Given the description of an element on the screen output the (x, y) to click on. 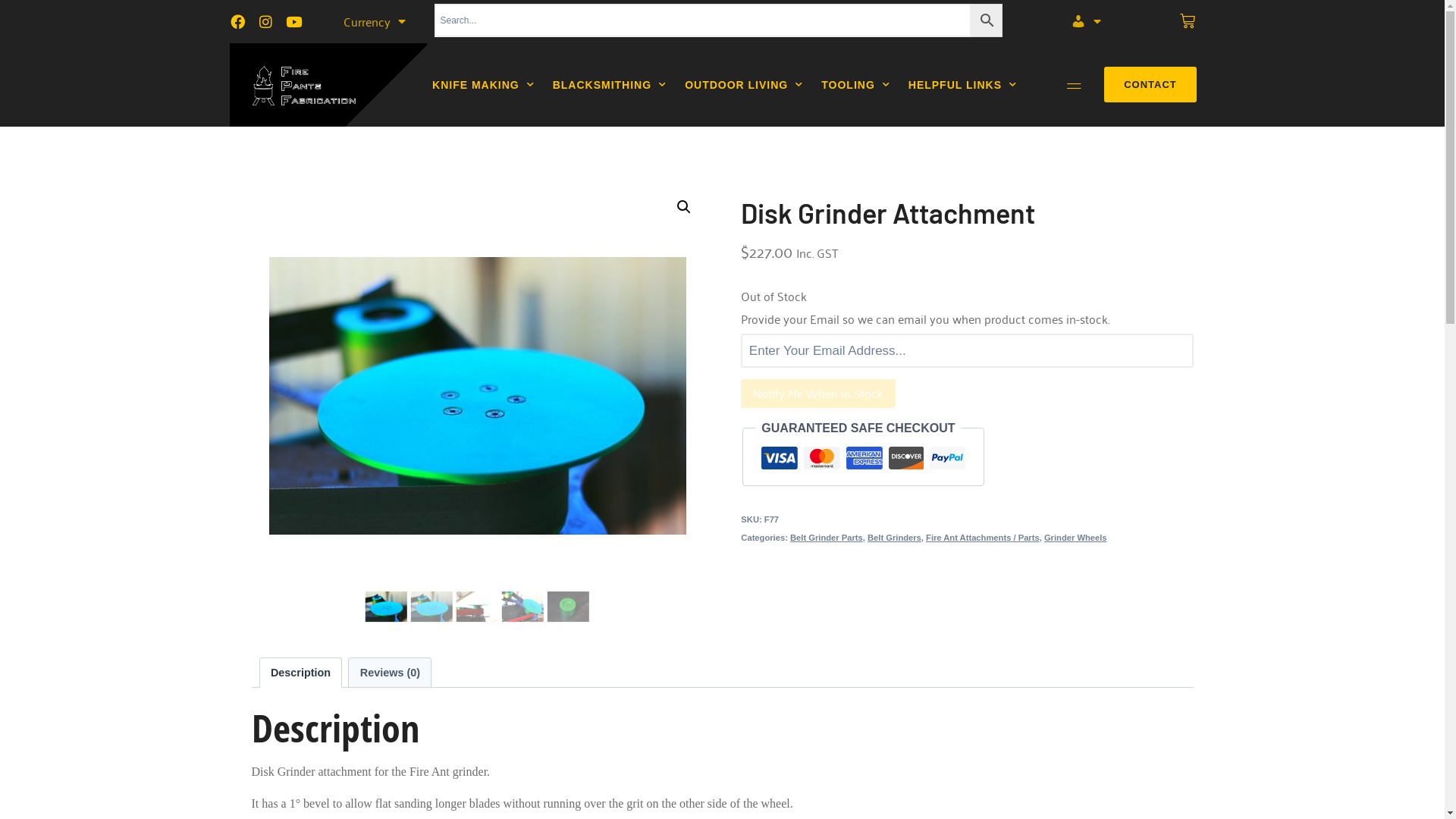
Reviews (0) Element type: text (389, 672)
0 Element type: text (1187, 21)
disk1-550x550w Element type: hover (476, 395)
KNIFE MAKING Element type: text (483, 84)
Belt Grinders Element type: text (894, 537)
Fire Ant Attachments / Parts Element type: text (982, 537)
TOOLING Element type: text (855, 84)
OUTDOOR LIVING Element type: text (743, 84)
Notify Me When in Stock Element type: text (817, 393)
Grinder Wheels Element type: text (1075, 537)
CONTACT Element type: text (1150, 84)
Currency Element type: text (373, 20)
HELPFUL LINKS Element type: text (962, 84)
Description Element type: text (300, 672)
BLACKSMITHING Element type: text (609, 84)
Belt Grinder Parts Element type: text (826, 537)
